Given the description of an element on the screen output the (x, y) to click on. 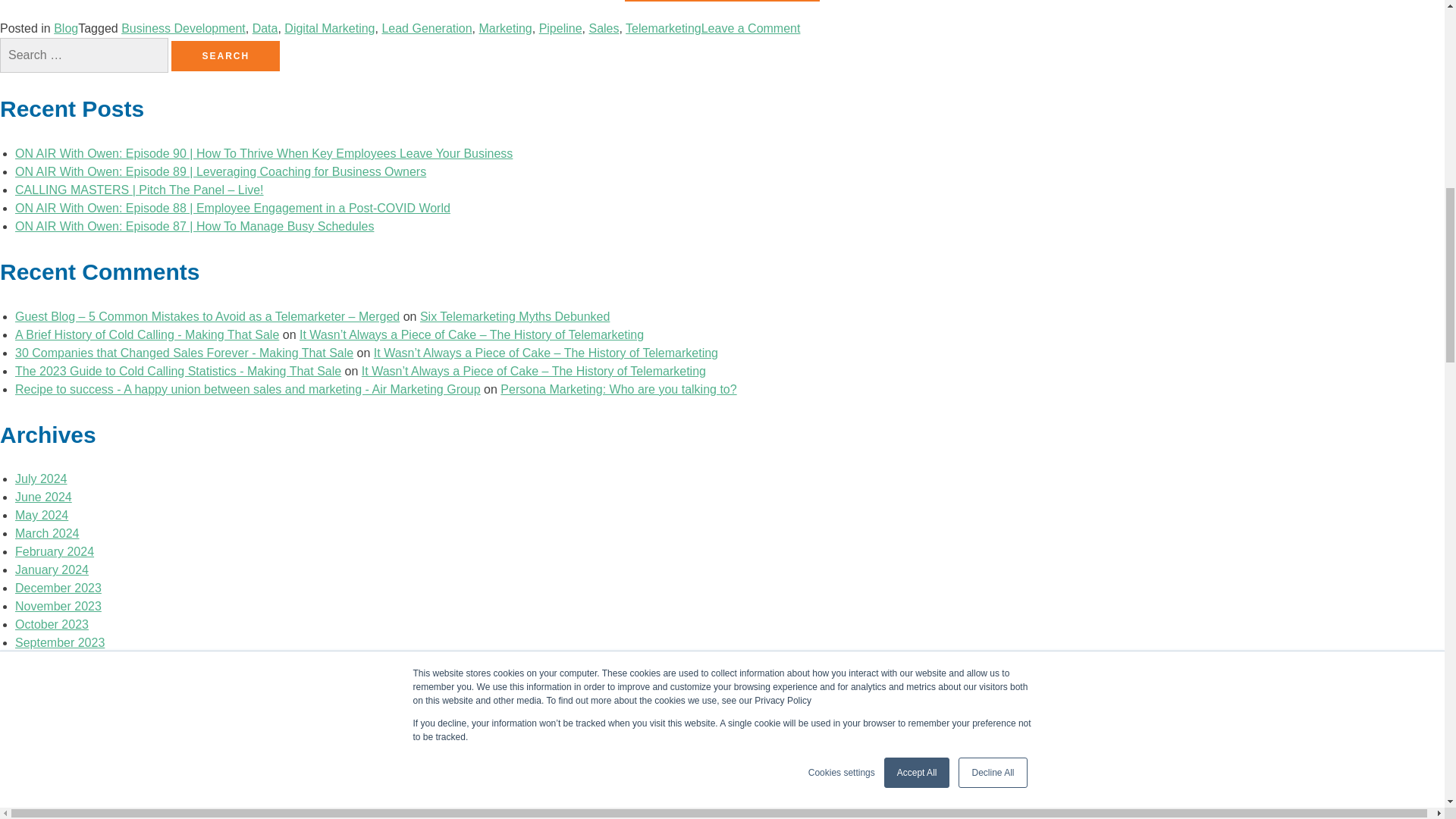
Search (225, 55)
Search (225, 55)
